Given the description of an element on the screen output the (x, y) to click on. 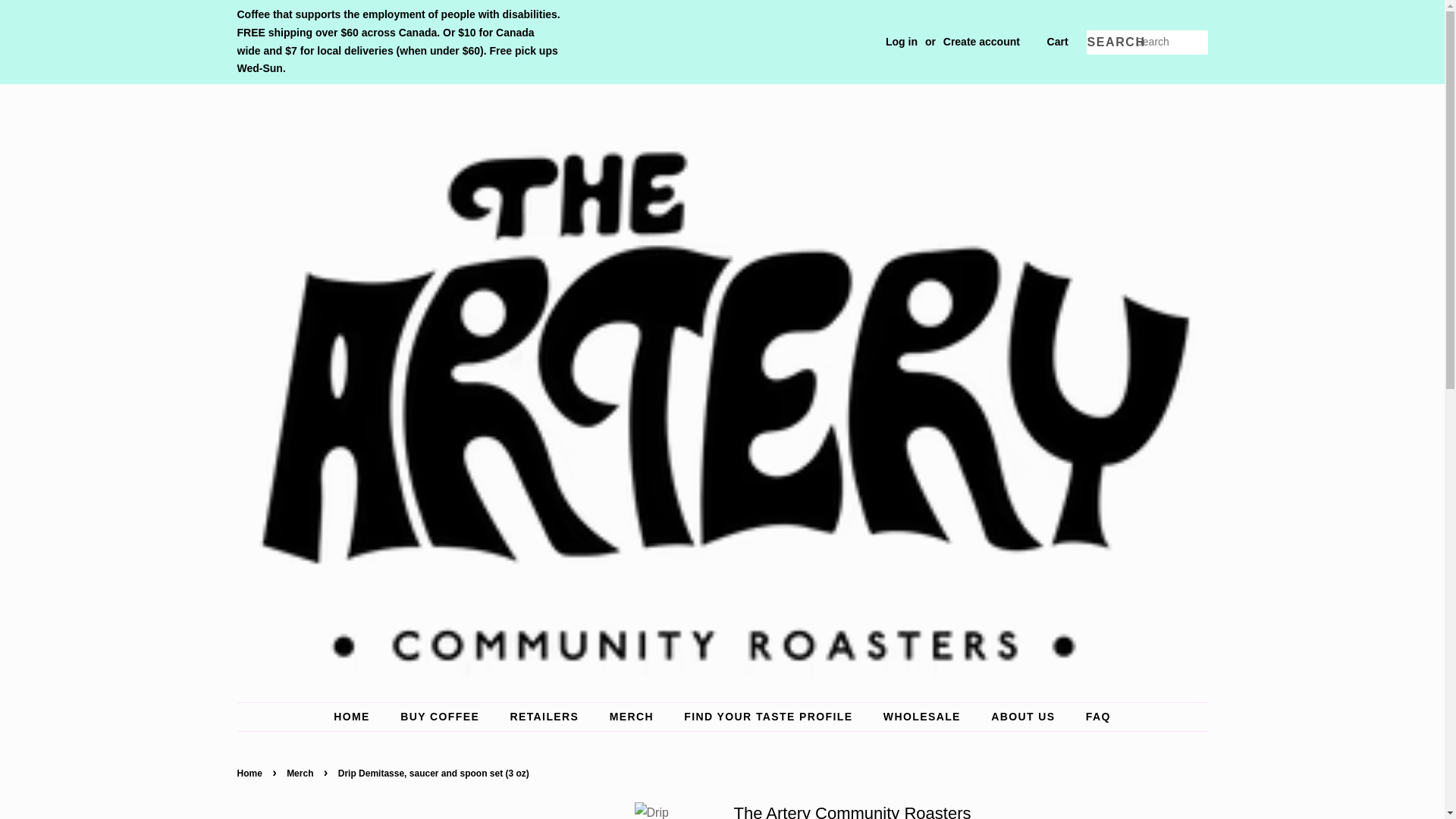
Log in (901, 41)
Create account (981, 41)
SEARCH (1110, 42)
Back to the frontpage (249, 773)
HOME (359, 717)
BUY COFFEE (441, 717)
Cart (1057, 42)
